Given the description of an element on the screen output the (x, y) to click on. 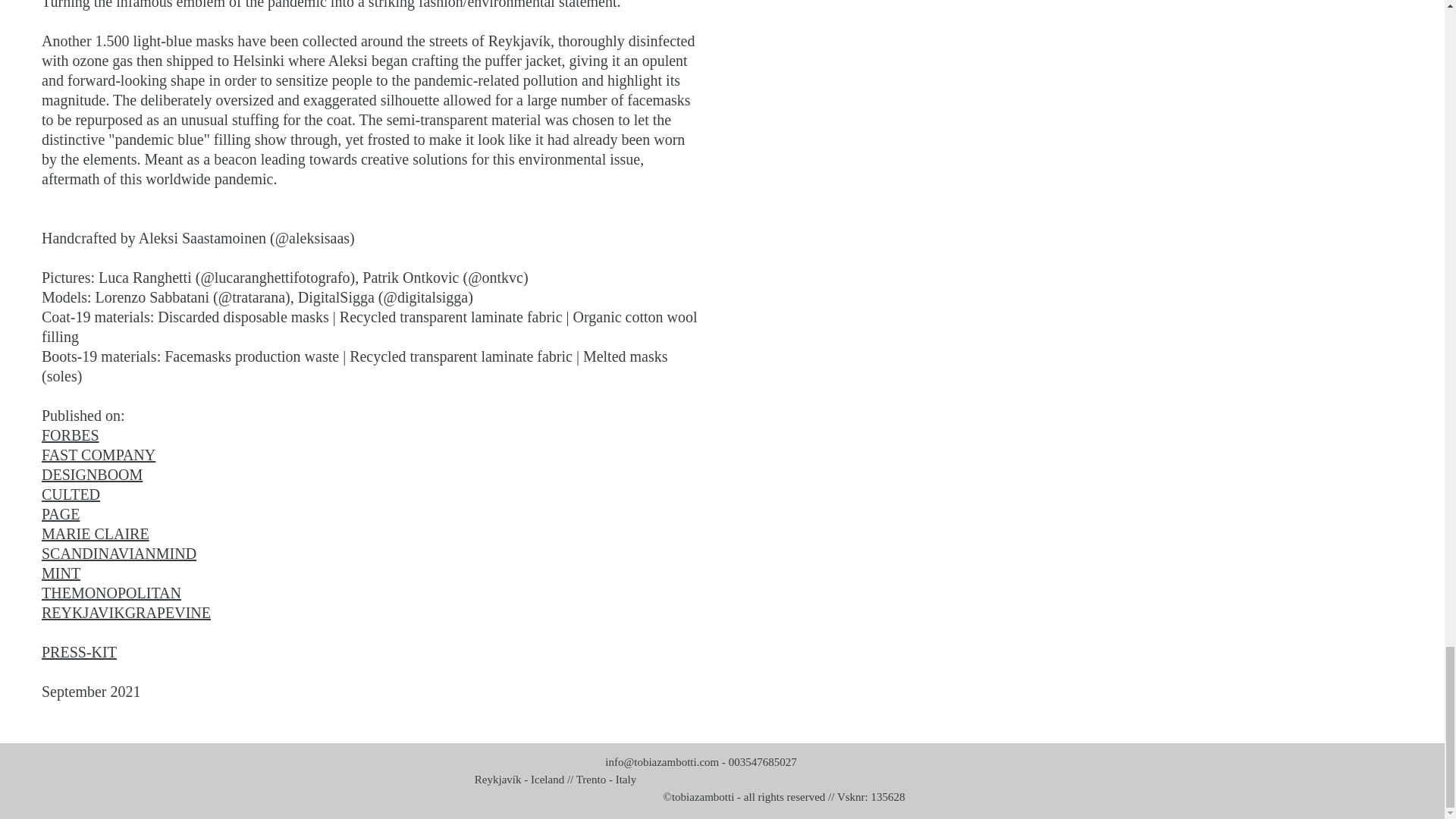
SCANDINAVIANMIND (119, 553)
FAST COMPANY (98, 454)
MARIE CLAIRE (95, 533)
REYKJAVIKGRAPEVINE (126, 612)
PRESS-KIT (79, 651)
MINT (61, 573)
PAGE (61, 514)
THEMONOPOLITAN (111, 592)
FORBES (70, 434)
CULTED (71, 494)
DESIGNBOOM (92, 474)
